Given the description of an element on the screen output the (x, y) to click on. 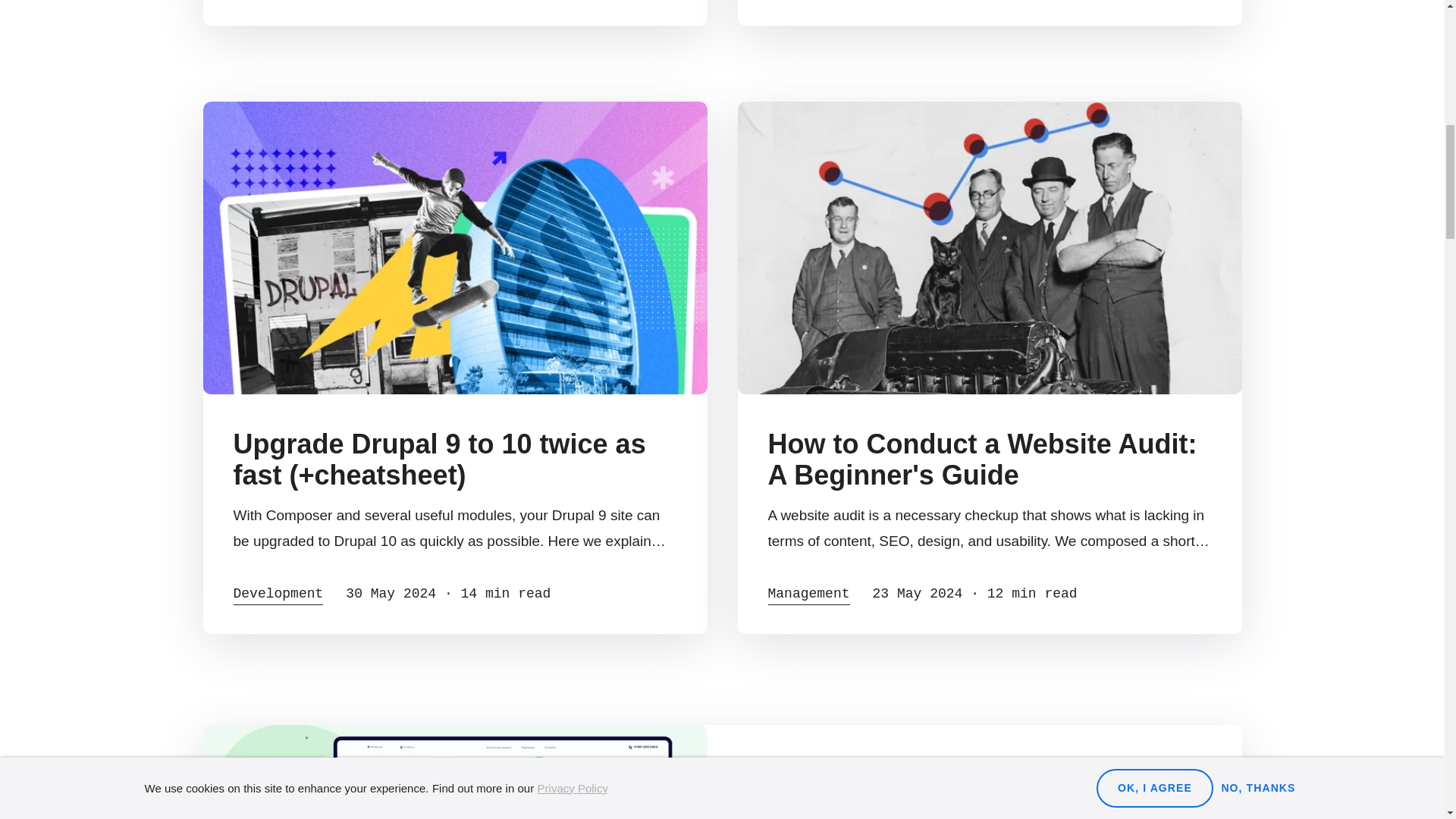
Management (807, 596)
Development (277, 596)
Online Home Appliances Store (922, 803)
How to Conduct a Website Audit: A Beginner's Guide (981, 459)
